Given the description of an element on the screen output the (x, y) to click on. 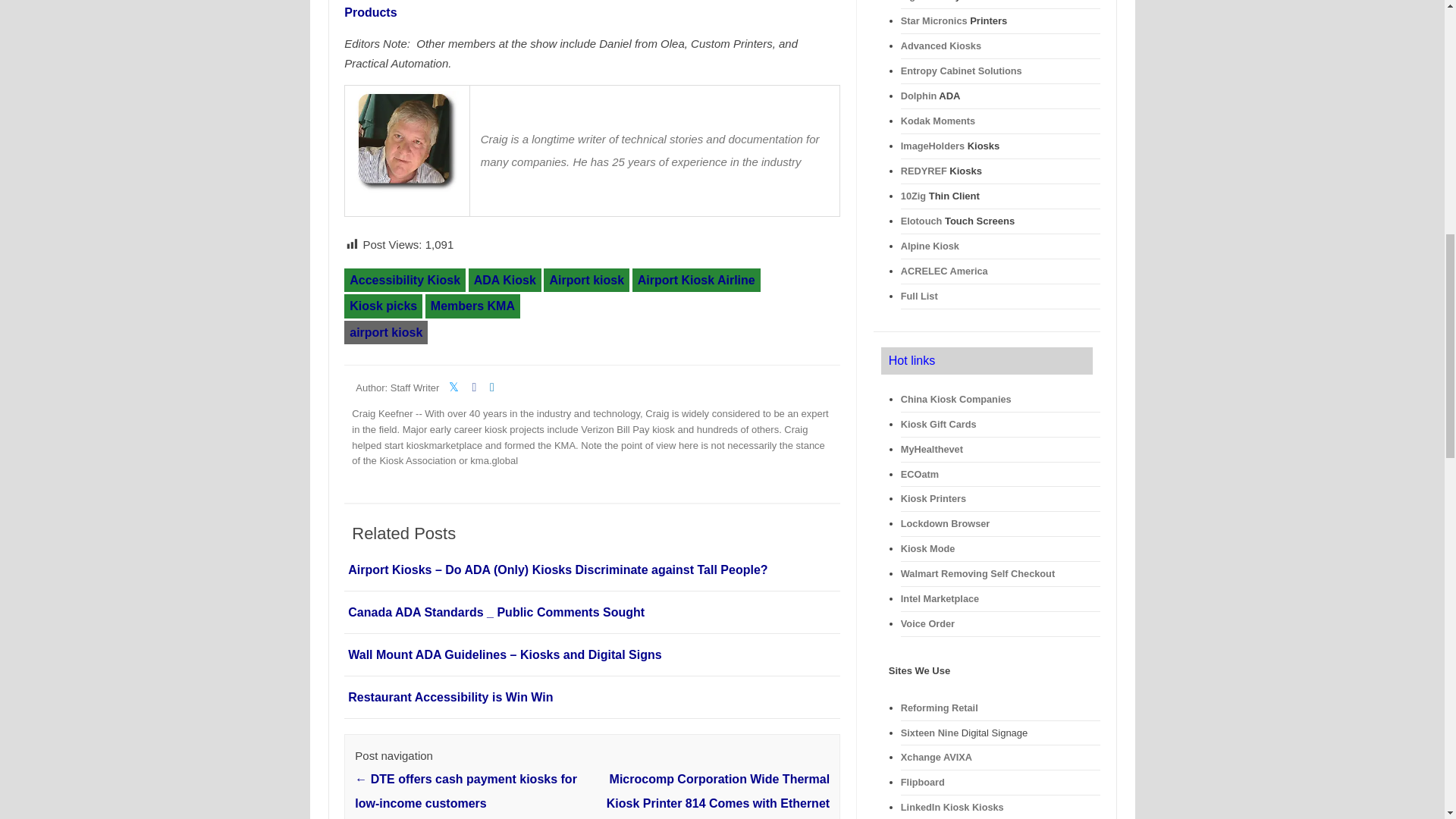
Restaurant Accessibility is Win Win (450, 697)
